Given the description of an element on the screen output the (x, y) to click on. 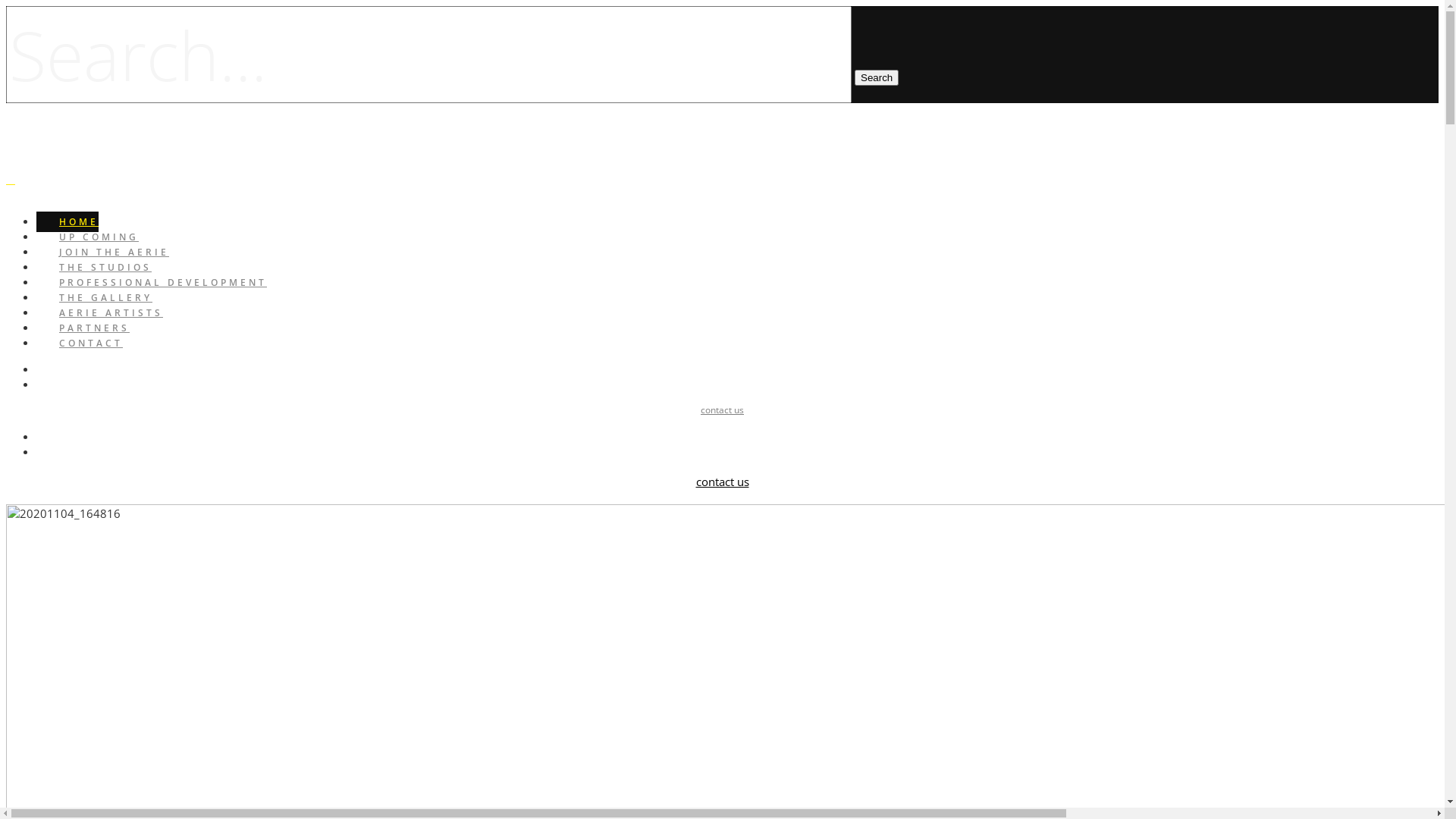
contact us Element type: text (721, 409)
CONTACT Element type: text (79, 342)
PARTNERS Element type: text (82, 327)
UP COMING Element type: text (87, 236)
HOME Element type: text (67, 221)
AERIE ARTISTS Element type: text (99, 312)
THE STUDIOS Element type: text (93, 267)
JOIN THE AERIE Element type: text (102, 251)
PROFESSIONAL DEVELOPMENT Element type: text (151, 282)
Search Element type: text (876, 77)
THE GALLERY Element type: text (94, 297)
contact us Element type: text (722, 481)
